Given the description of an element on the screen output the (x, y) to click on. 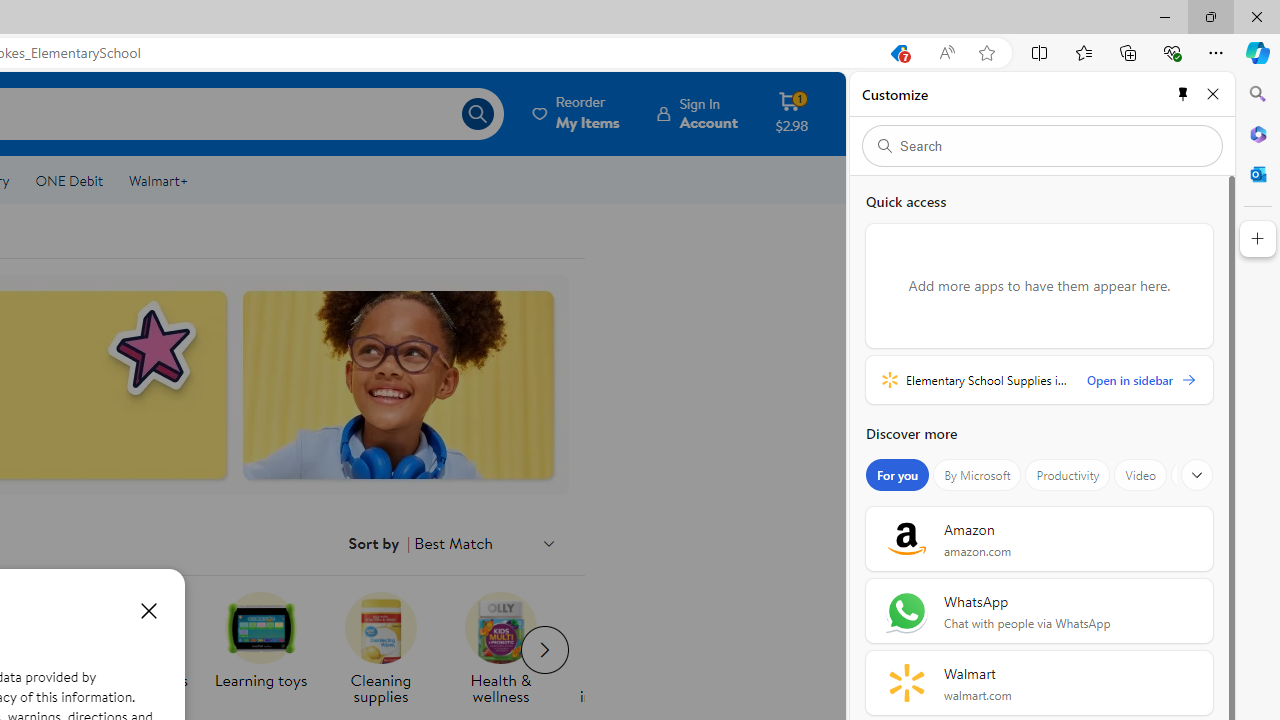
This site has coupons! Shopping in Microsoft Edge, 7 (898, 53)
By Microsoft (977, 475)
Close dialog (148, 610)
Video (1140, 475)
Show more (1197, 475)
